Given the description of an element on the screen output the (x, y) to click on. 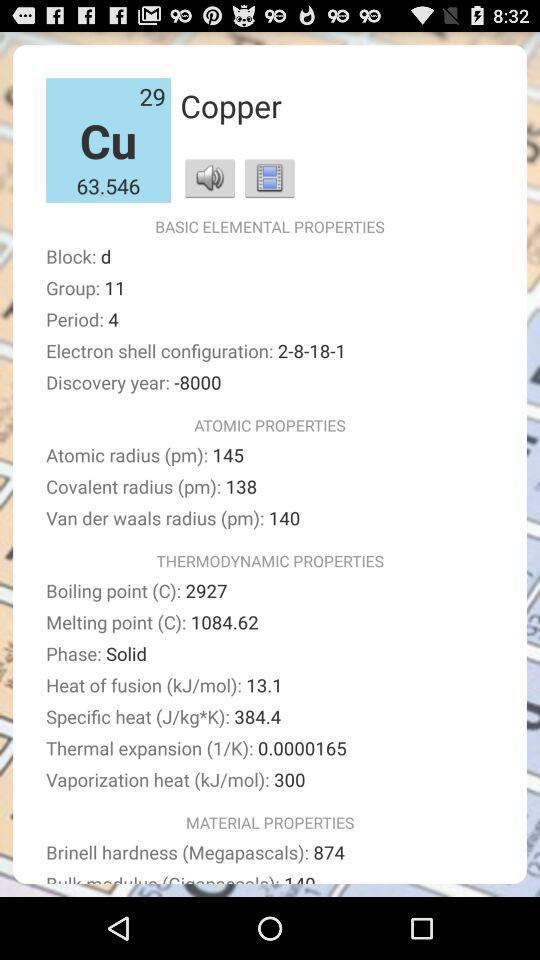
launch app above the basic elemental properties item (269, 177)
